Given the description of an element on the screen output the (x, y) to click on. 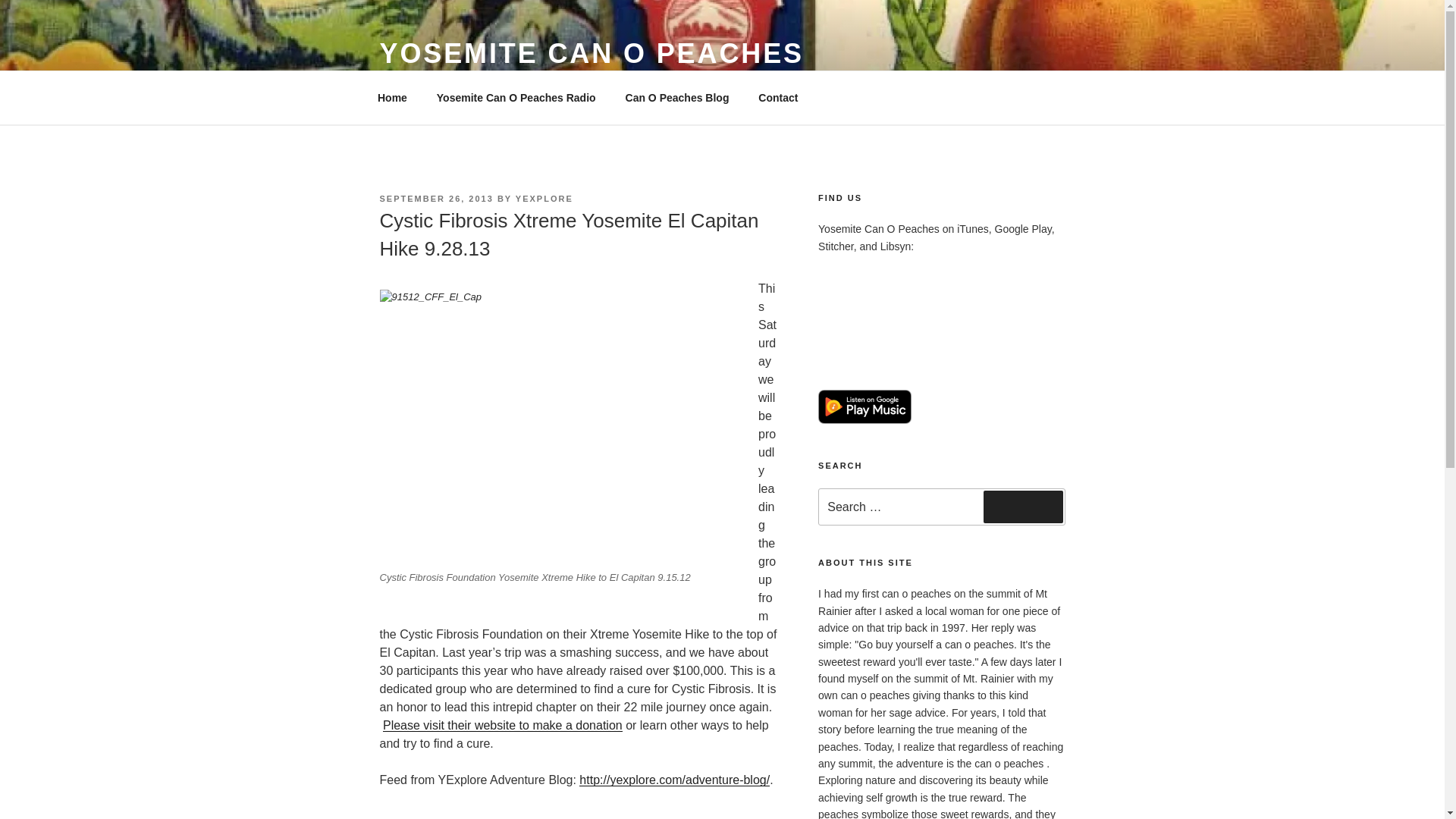
Please visit their website to make a donation (502, 725)
Yosemite Can O Peaches Radio (515, 97)
YOSEMITE CAN O PEACHES (590, 52)
Search (1023, 506)
Cystic Fibrosis Foundation Northern California Chapter (502, 725)
Contact (777, 97)
Can O Peaches Blog (676, 97)
Home (392, 97)
SEPTEMBER 26, 2013 (435, 198)
YEXPLORE (544, 198)
